Given the description of an element on the screen output the (x, y) to click on. 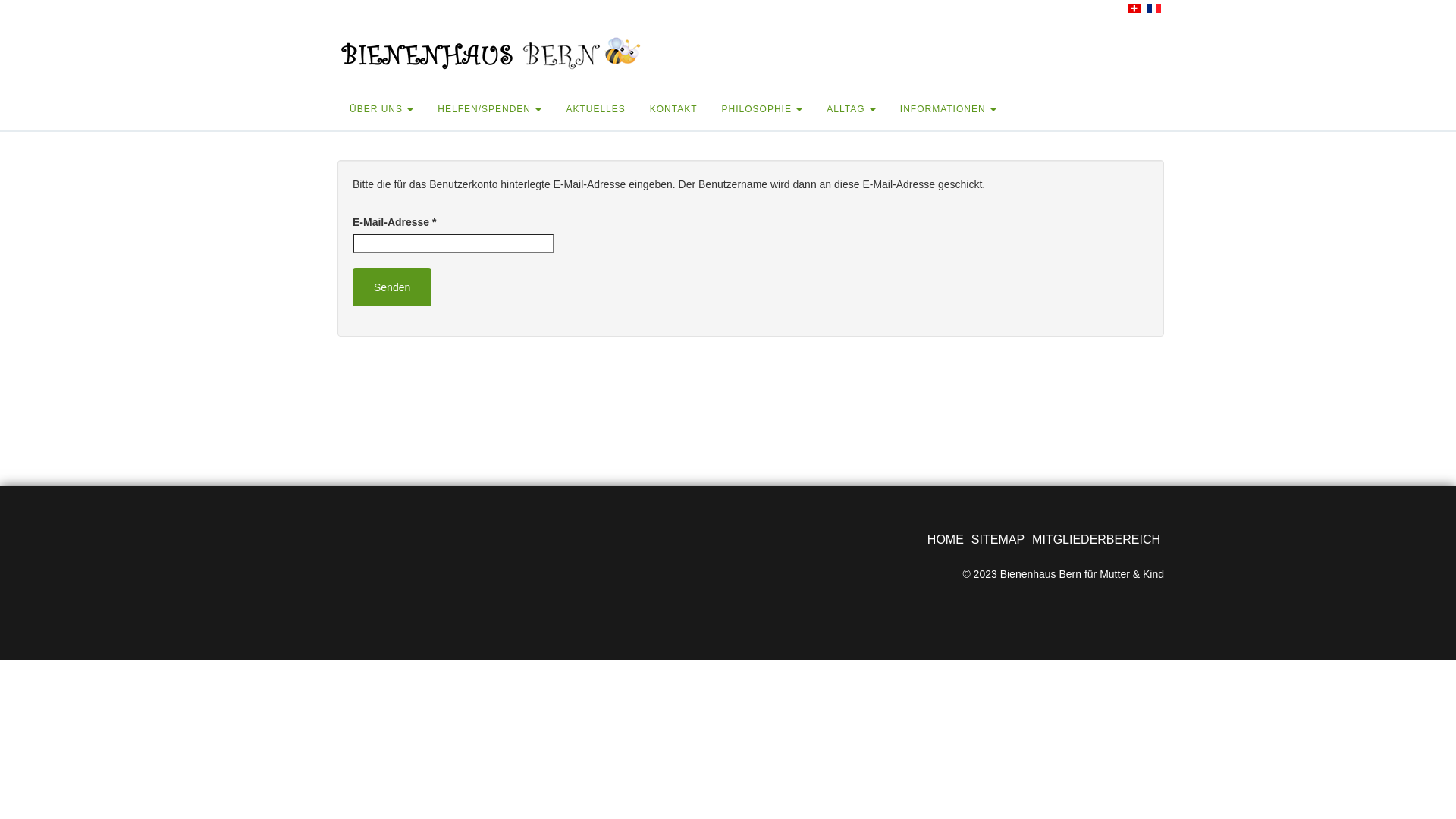
SITEMAP Element type: text (997, 539)
KONTAKT Element type: text (673, 110)
Deutsch Element type: hover (1134, 7)
MITGLIEDERBEREICH Element type: text (1096, 539)
INFORMATIONEN Element type: text (948, 110)
AKTUELLES Element type: text (595, 110)
HOME Element type: text (945, 539)
ALLTAG Element type: text (851, 110)
PHILOSOPHIE Element type: text (762, 110)
Senden Element type: text (391, 287)
HELFEN/SPENDEN Element type: text (489, 110)
